Given the description of an element on the screen output the (x, y) to click on. 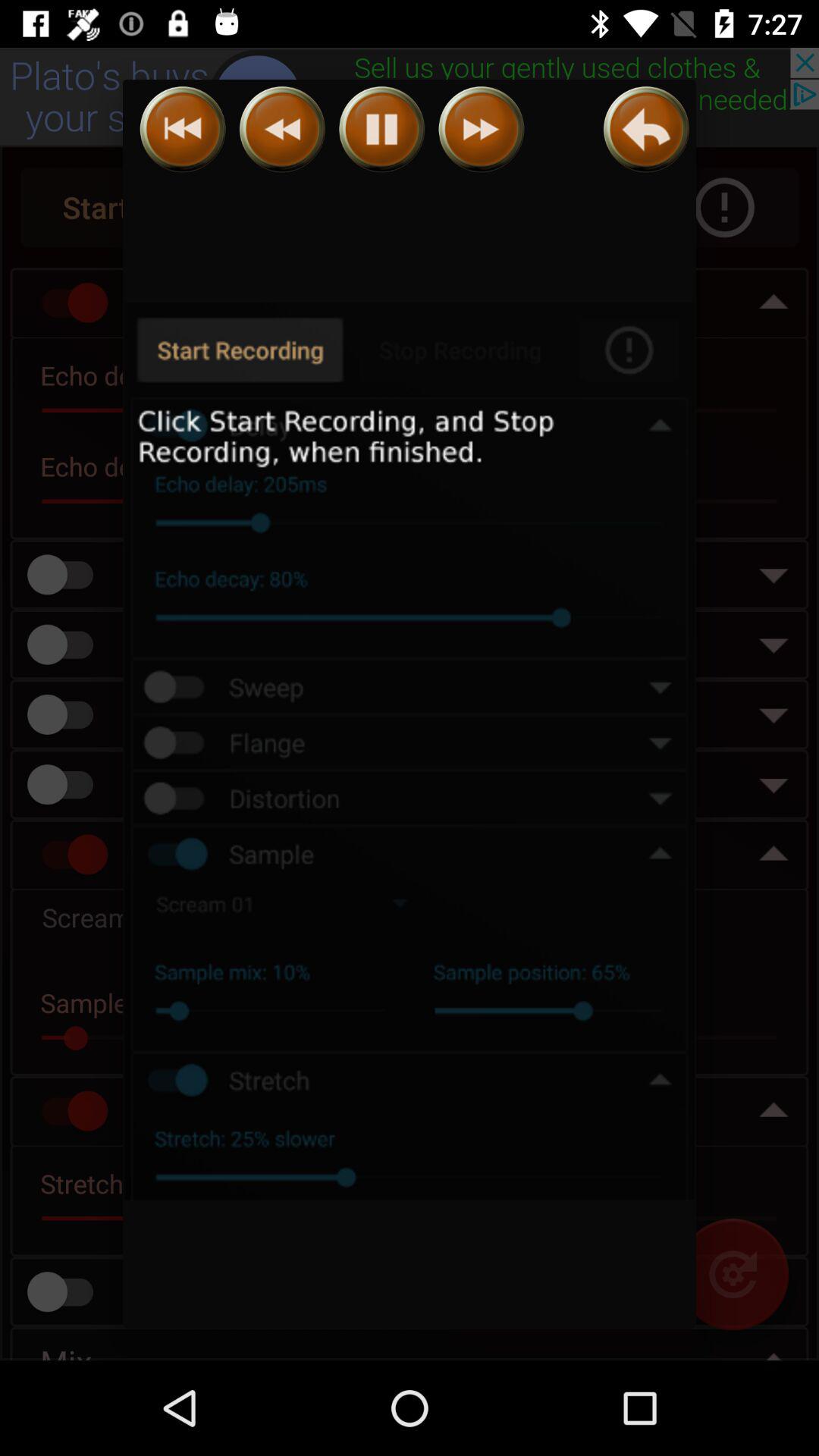
pause (381, 129)
